Given the description of an element on the screen output the (x, y) to click on. 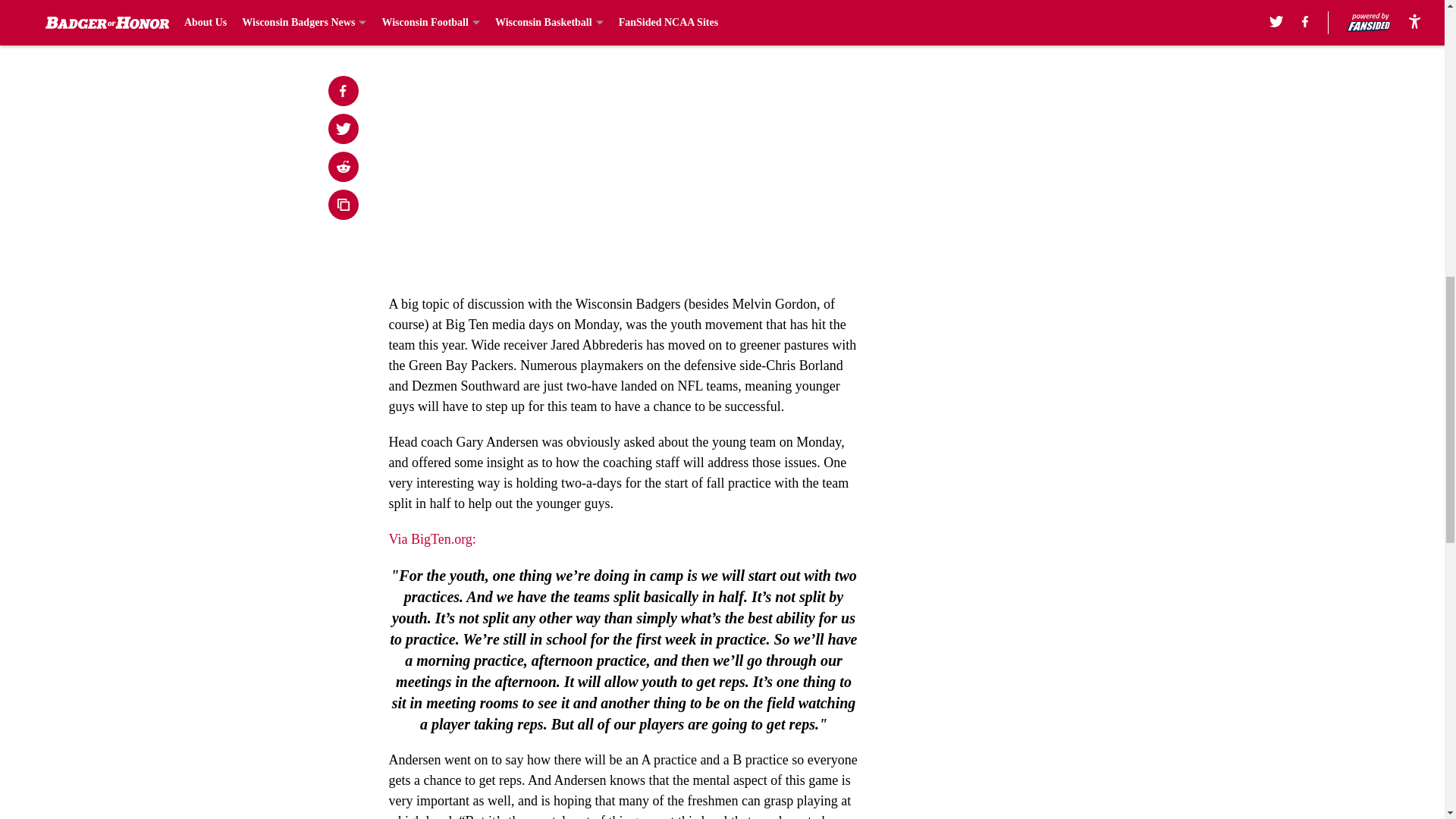
Via BigTen.org: (432, 539)
